Given the description of an element on the screen output the (x, y) to click on. 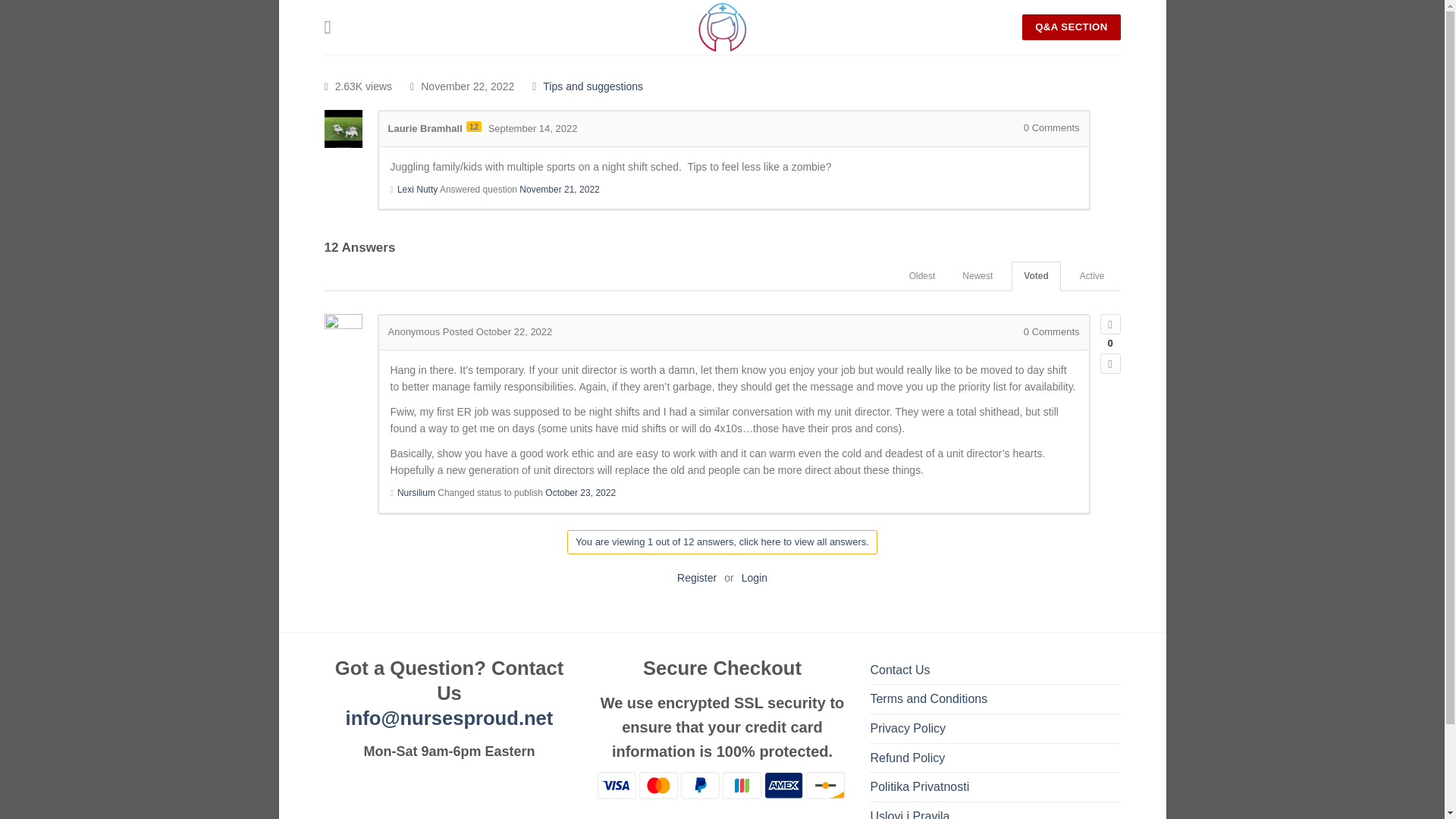
Register (696, 577)
Login (754, 577)
Lexi Nutty (417, 189)
Nursesproud Community - You ask we serve (721, 27)
Laurie Bramhall (425, 128)
Tips and suggestions (593, 86)
September 14, 2022 (532, 128)
October 23, 2022 (579, 492)
November 21, 2022 (558, 189)
Nursilium (416, 492)
Questions related to tips and suggestions (593, 86)
Reputation (473, 126)
Posted October 22, 2022 (497, 331)
12 (473, 126)
